Given the description of an element on the screen output the (x, y) to click on. 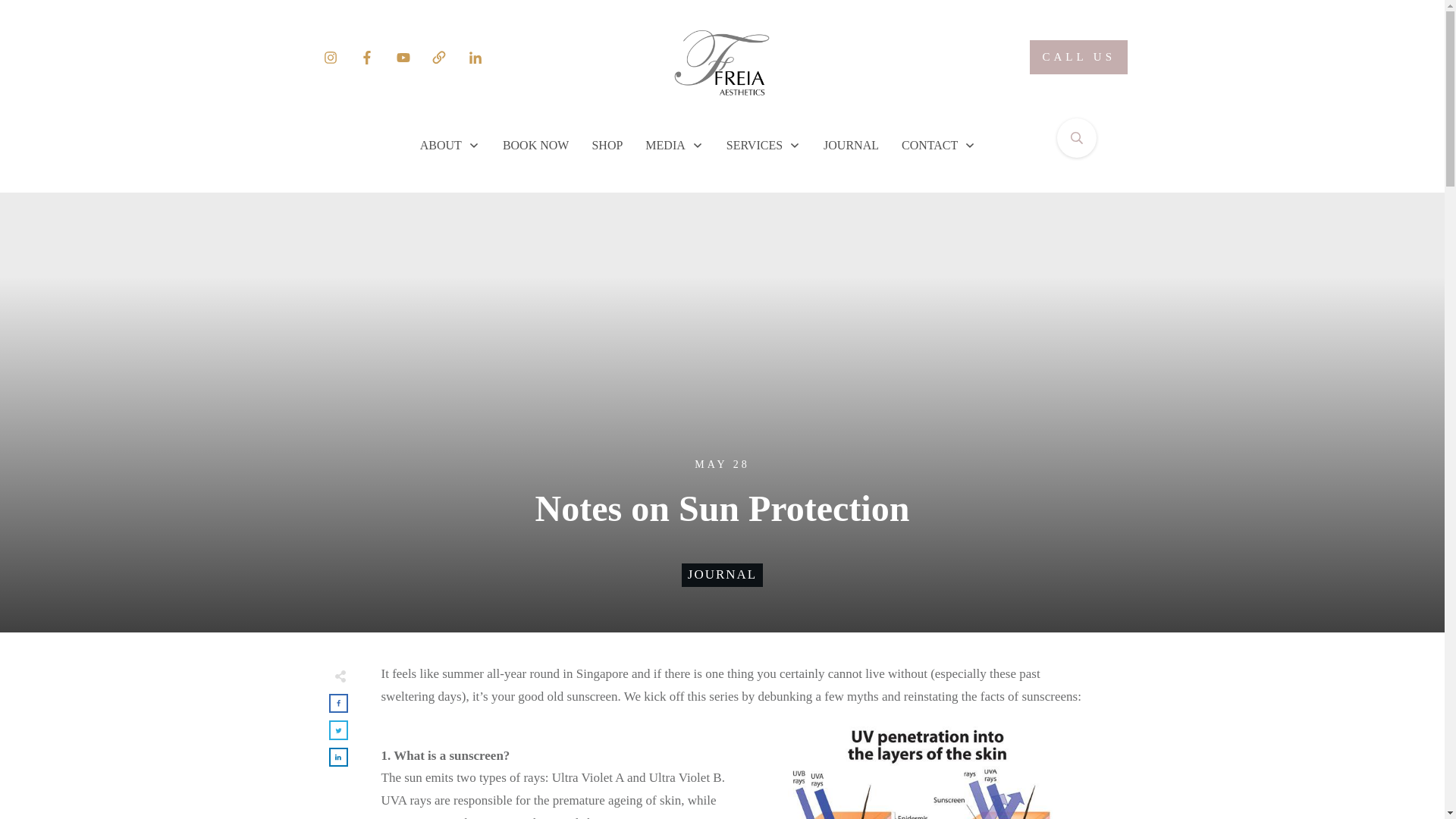
ABOUT (450, 145)
JOURNAL (851, 145)
CALL US (1077, 57)
journal (722, 574)
CONTACT (938, 145)
JOURNAL (722, 574)
SHOP (607, 145)
MEDIA (674, 145)
SERVICES (763, 145)
BOOK NOW (535, 145)
